Given the description of an element on the screen output the (x, y) to click on. 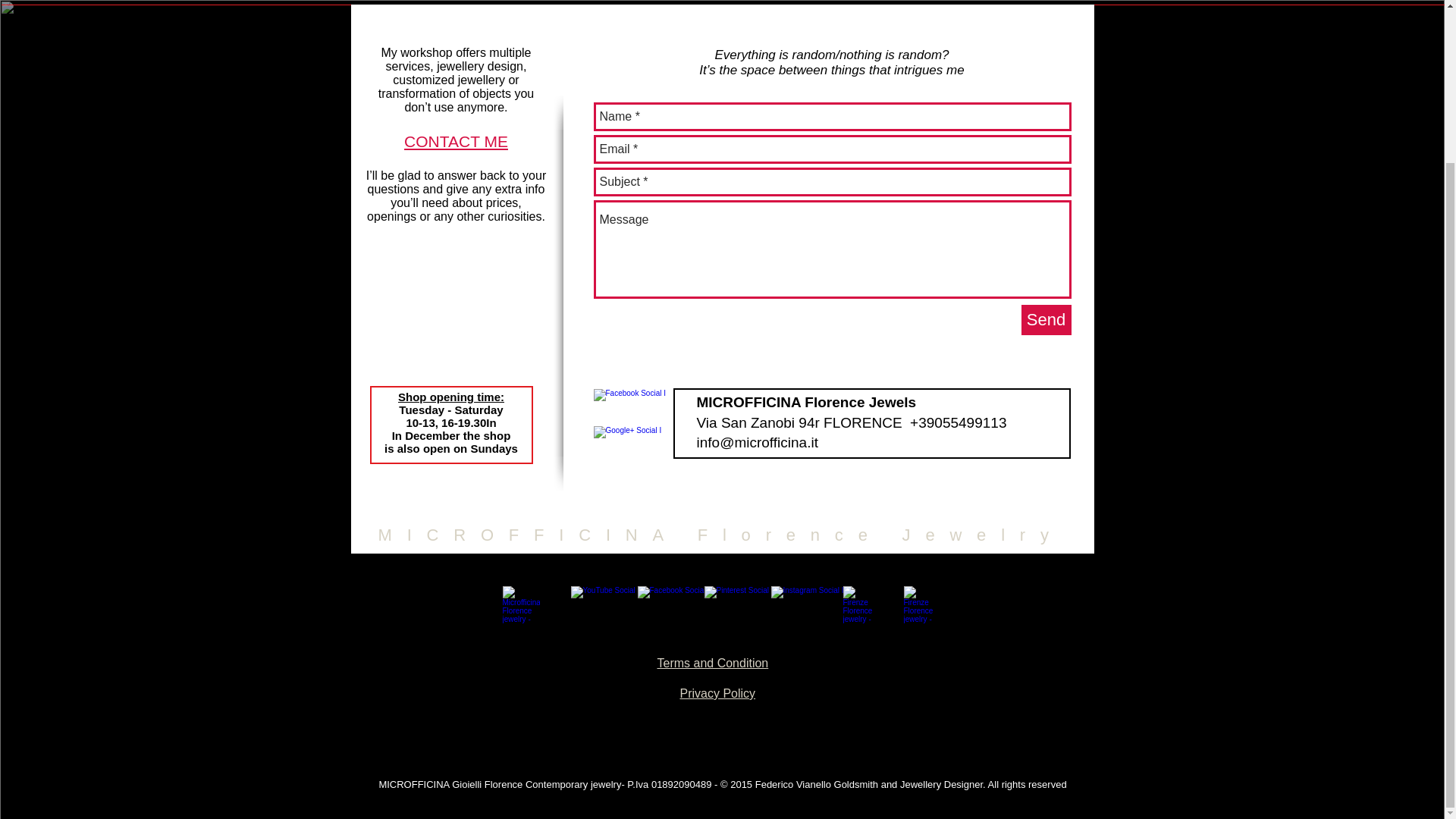
Privacy Policy (717, 693)
Book now your experience! (922, 605)
Send (1045, 319)
COLLECTIONS (827, 2)
WORKSHOP (615, 2)
HOME (403, 2)
CONTACTS (933, 2)
give us a feedback, please! (861, 605)
MAKER (509, 2)
Terms and Condition (712, 662)
